Given the description of an element on the screen output the (x, y) to click on. 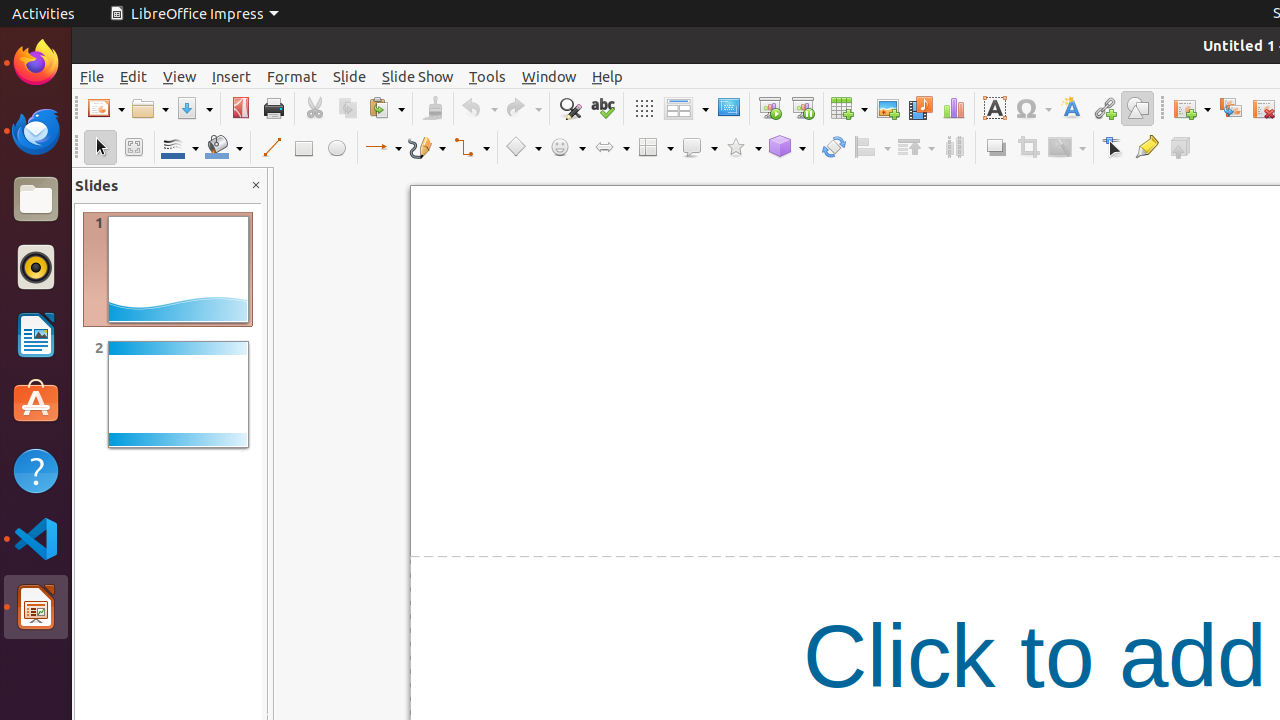
Slide Element type: menu (349, 76)
Clone Element type: push-button (432, 108)
Filter Element type: push-button (1067, 147)
Shadow Element type: toggle-button (995, 147)
Align Element type: push-button (872, 147)
